Given the description of an element on the screen output the (x, y) to click on. 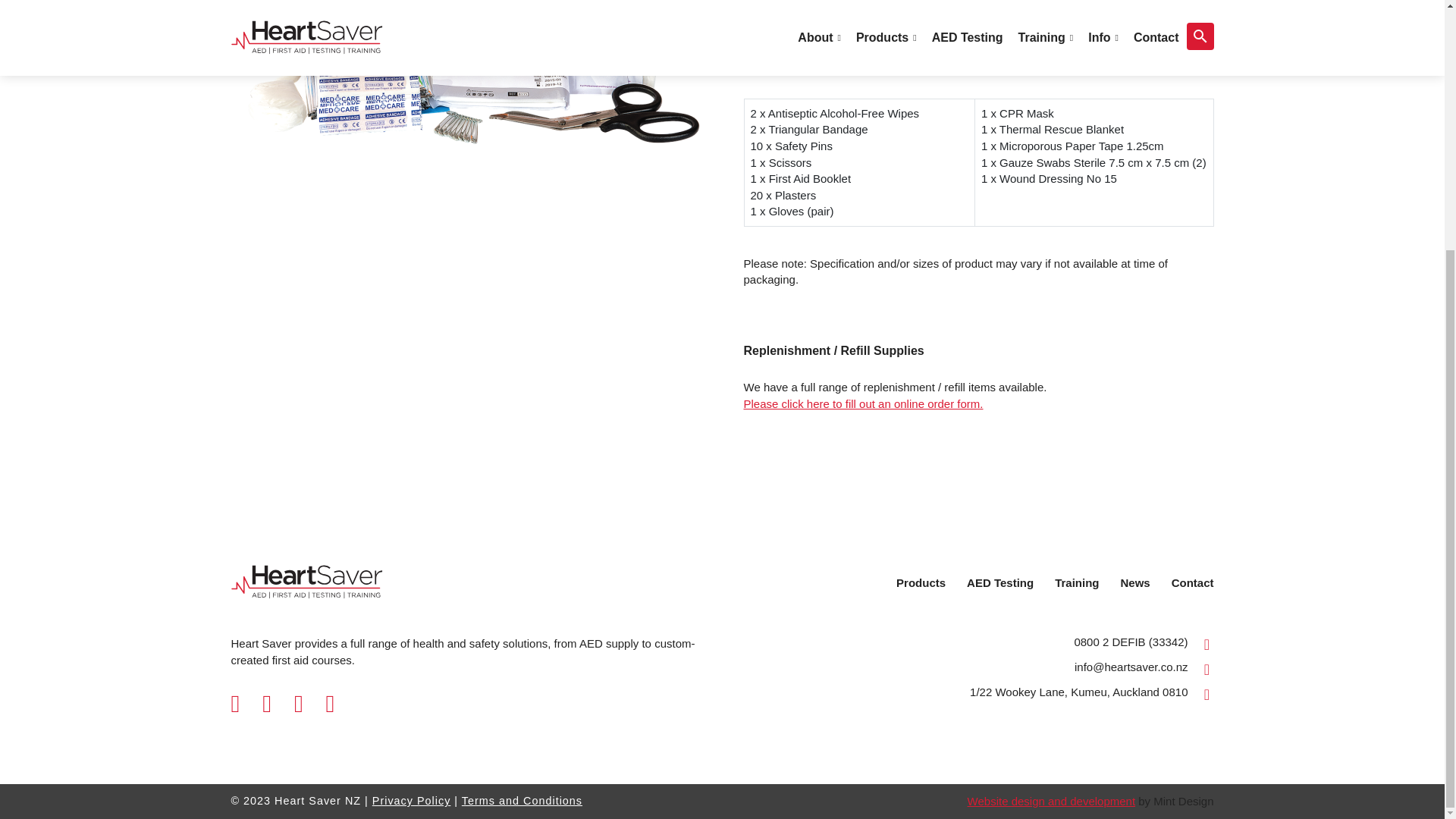
Please click here to fill out an online order form. (862, 403)
Mint Design Ltd (1051, 800)
First Aid Kit Replenishment Items Order Form (862, 403)
